Given the description of an element on the screen output the (x, y) to click on. 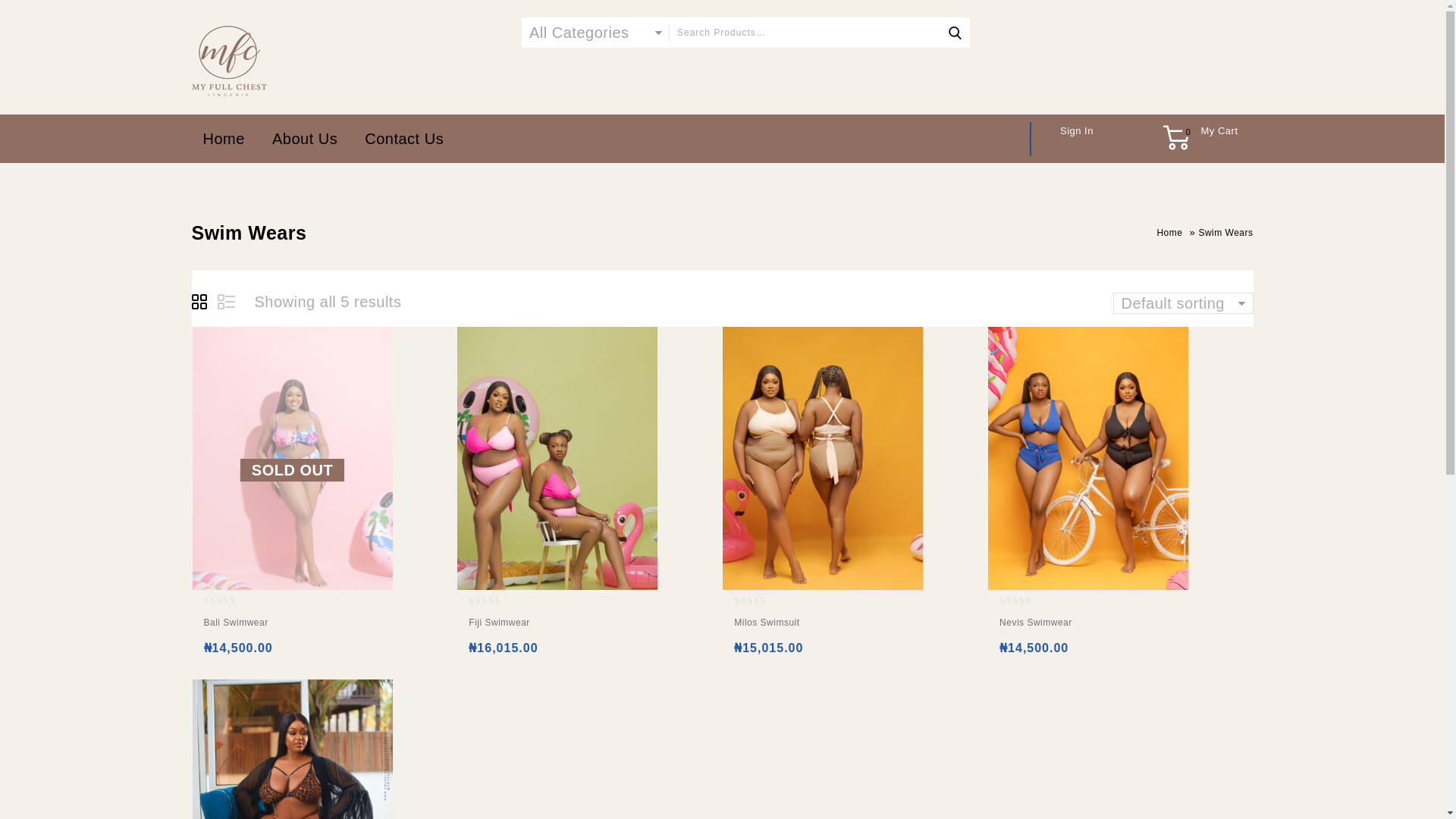
Search (954, 32)
Contact Us (403, 138)
Fiji Swimwear (557, 625)
About Us (304, 138)
Grid view (200, 303)
Bali Swimwear (291, 625)
Not yet rated (762, 600)
Not yet rated (497, 600)
View your shopping cart (1220, 138)
Not yet rated (1028, 600)
Home (1169, 232)
List view (225, 303)
Home (223, 138)
Not yet rated (232, 600)
Nevis Swimwear (1087, 625)
